Given the description of an element on the screen output the (x, y) to click on. 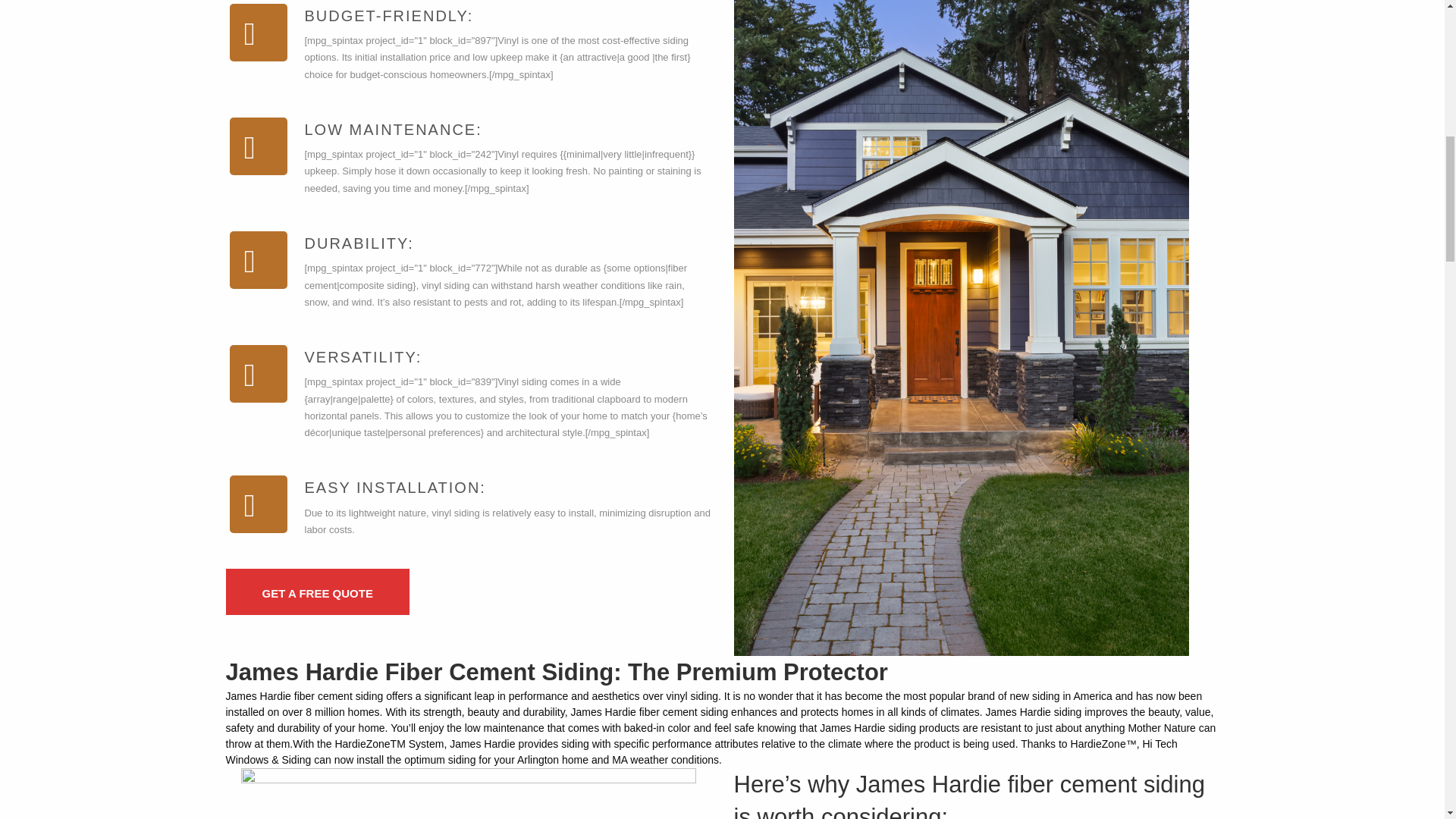
home-siding-lap (468, 793)
